Given the description of an element on the screen output the (x, y) to click on. 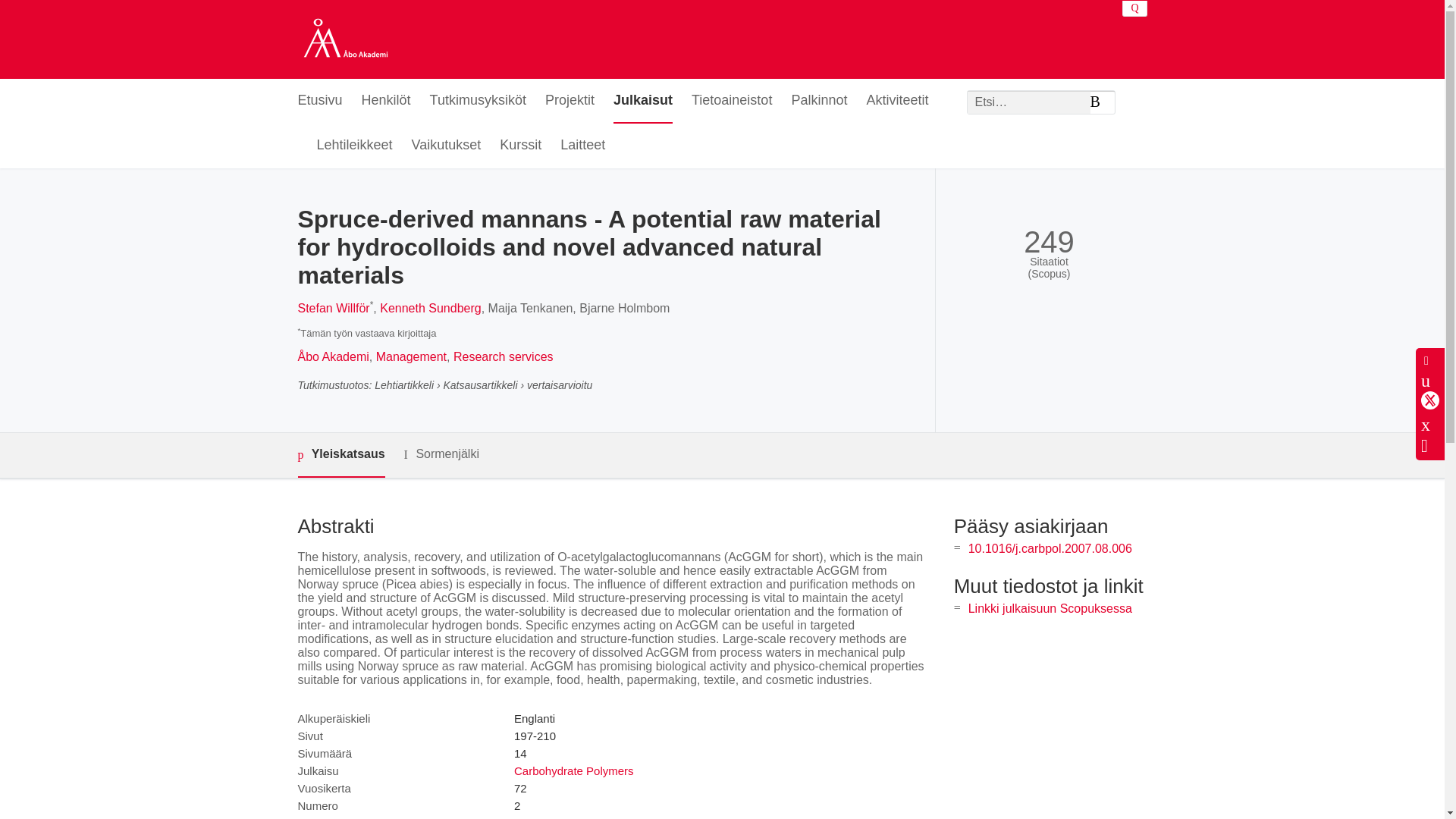
Aktiviteetit (897, 100)
Kenneth Sundberg (430, 308)
Etusivu (319, 100)
Palkinnot (818, 100)
Management (410, 356)
Vaikutukset (446, 145)
Lehtileikkeet (355, 145)
Yleiskatsaus (340, 455)
Kurssit (520, 145)
Carbohydrate Polymers (573, 770)
